Given the description of an element on the screen output the (x, y) to click on. 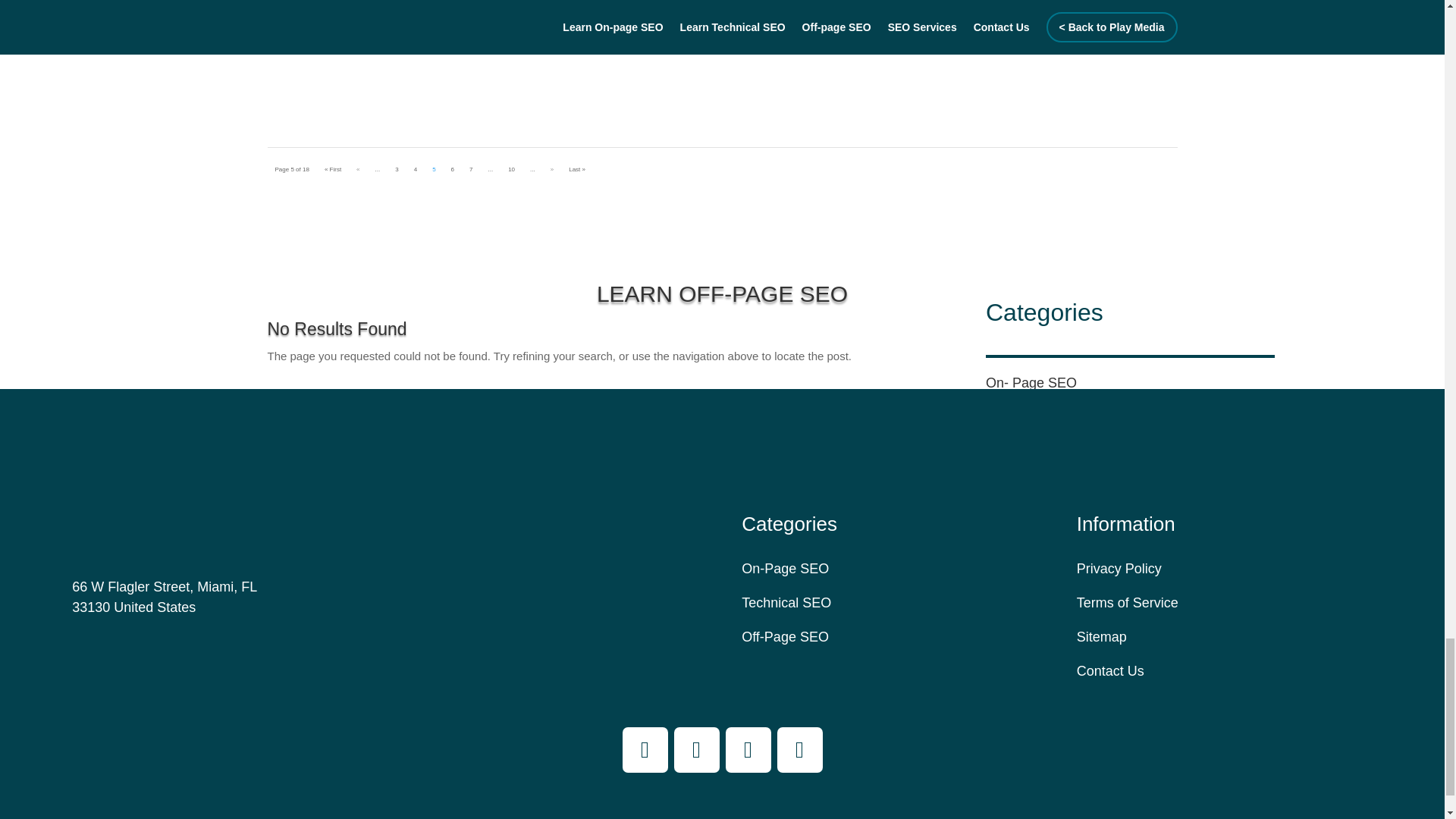
Follow on LinkedIn (799, 750)
Follow on Facebook (643, 750)
Page 3 (396, 169)
Follow on Instagram (695, 750)
Page 7 (470, 169)
Page 4 (415, 169)
Page 6 (452, 169)
PM-Academy-Logo (100, 489)
Follow on Twitter (747, 750)
Page 10 (510, 169)
